Given the description of an element on the screen output the (x, y) to click on. 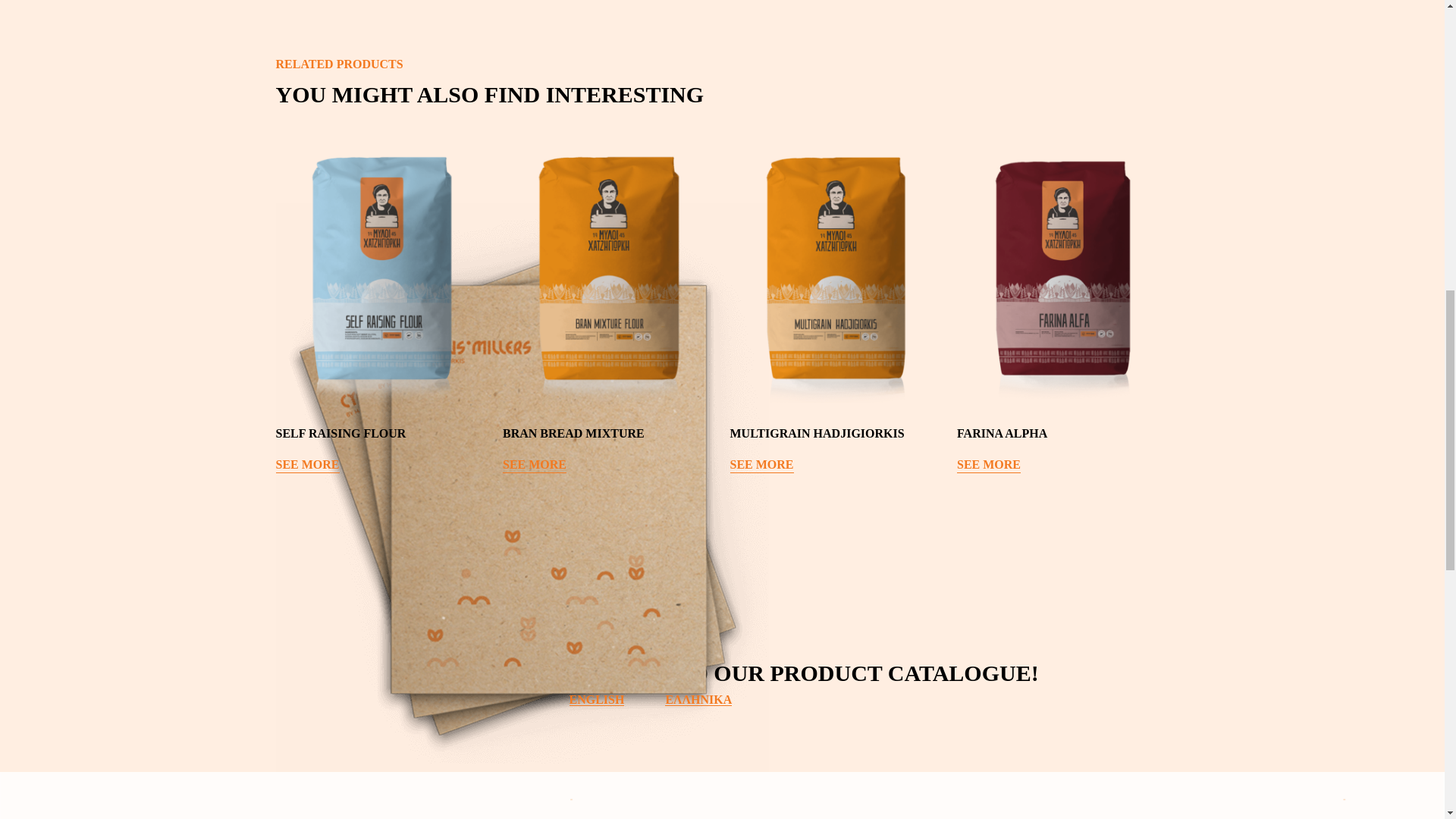
SEE MORE (534, 465)
ENGLISH (596, 699)
SELF RAISING FLOUR (381, 436)
MULTIGRAIN HADJIGIORKIS (835, 436)
SEE MORE (307, 465)
SEE MORE (761, 465)
BRAN BREAD MIXTURE (608, 436)
SEE MORE (988, 465)
FARINA ALPHA (1062, 436)
